Given the description of an element on the screen output the (x, y) to click on. 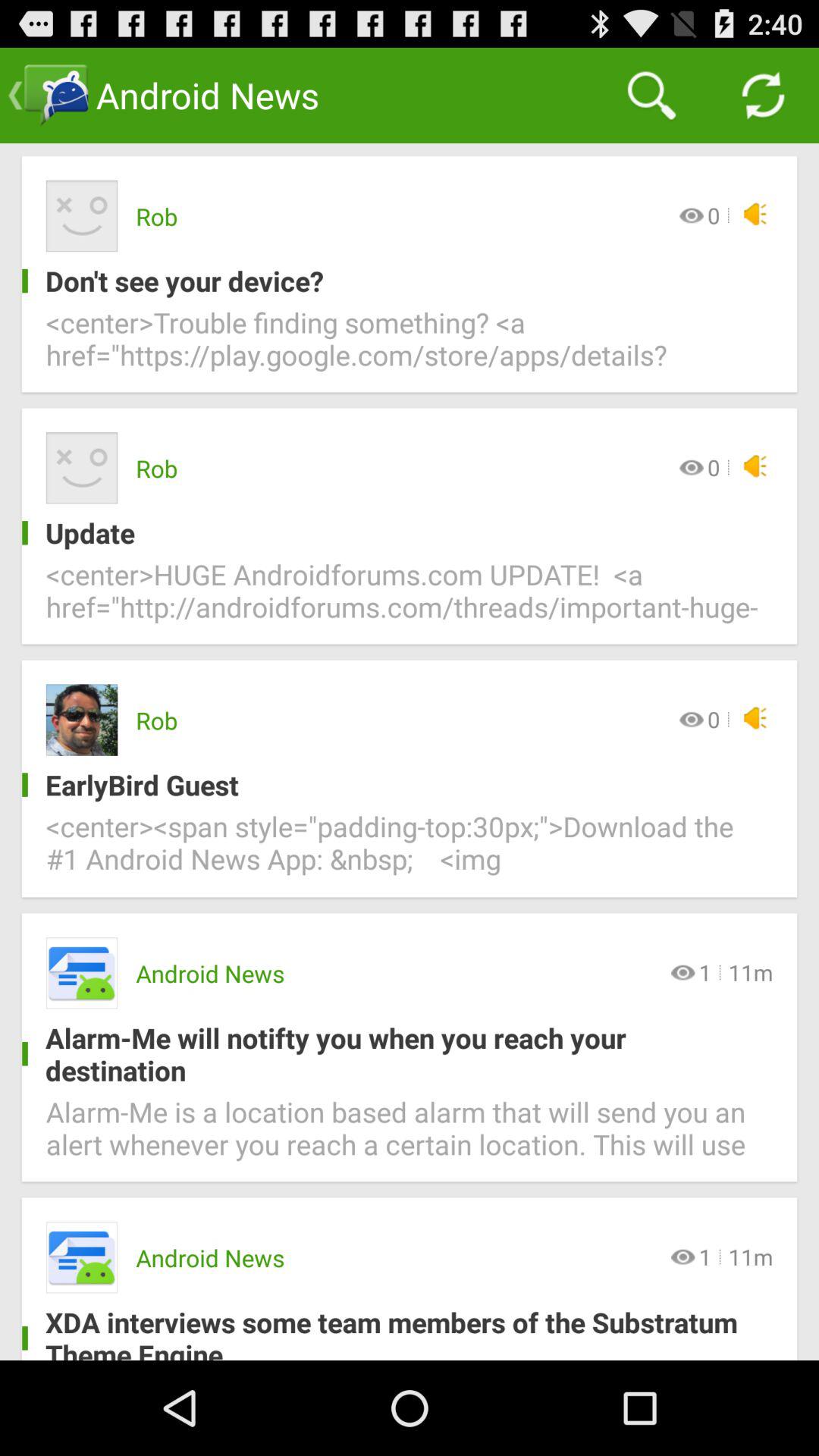
click on the fourth icon of the page which is on the left side (81, 973)
the label shown above alarmme (81, 973)
click on first image (81, 215)
select the android news option (81, 973)
select the image  above earlybird guest (81, 719)
